Given the description of an element on the screen output the (x, y) to click on. 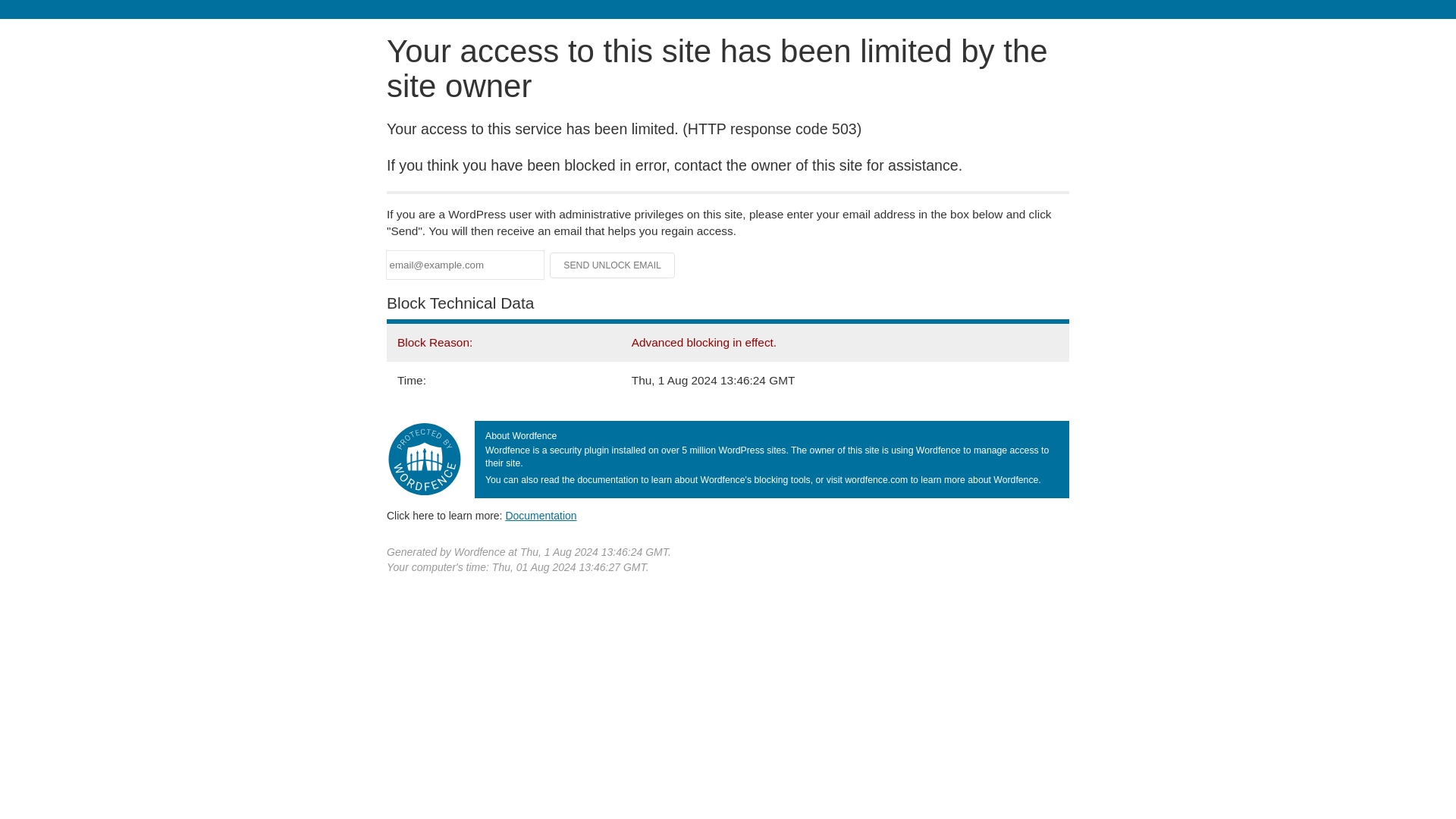
Send Unlock Email (612, 265)
Send Unlock Email (612, 265)
Documentation (540, 515)
